Given the description of an element on the screen output the (x, y) to click on. 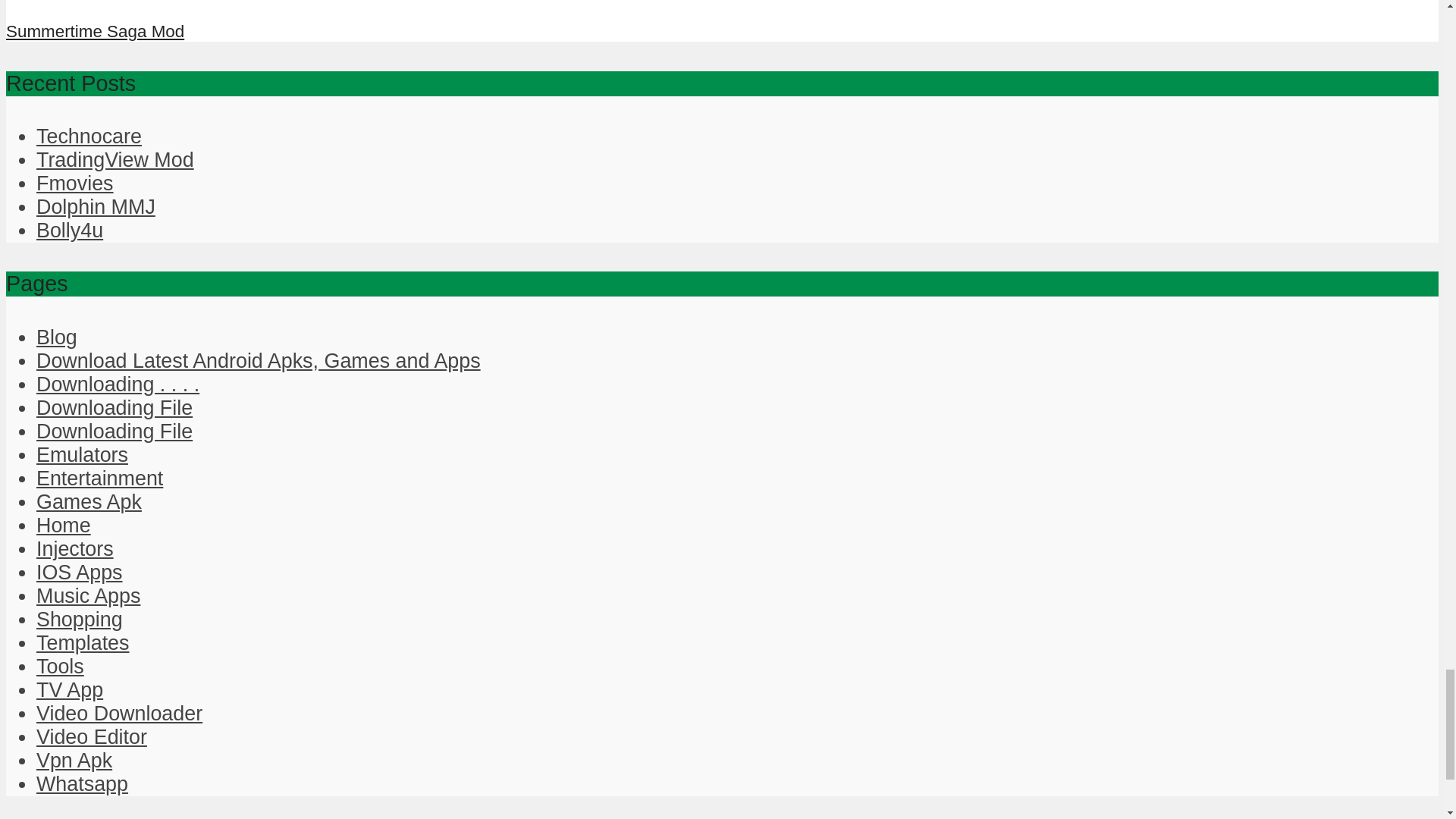
Downloading File (114, 407)
Downloading File (114, 431)
Bolly4u (69, 230)
Downloading . . . . (117, 384)
TradingView Mod (114, 159)
Summertime Saga Mod (94, 31)
Blog (56, 336)
Summertime Saga Mod (60, 3)
Summertime Saga Mod (94, 31)
Fmovies (74, 182)
Technocare (88, 136)
Dolphin MMJ (95, 206)
Download Latest Android Apks, Games and Apps (258, 360)
Emulators (82, 454)
